Given the description of an element on the screen output the (x, y) to click on. 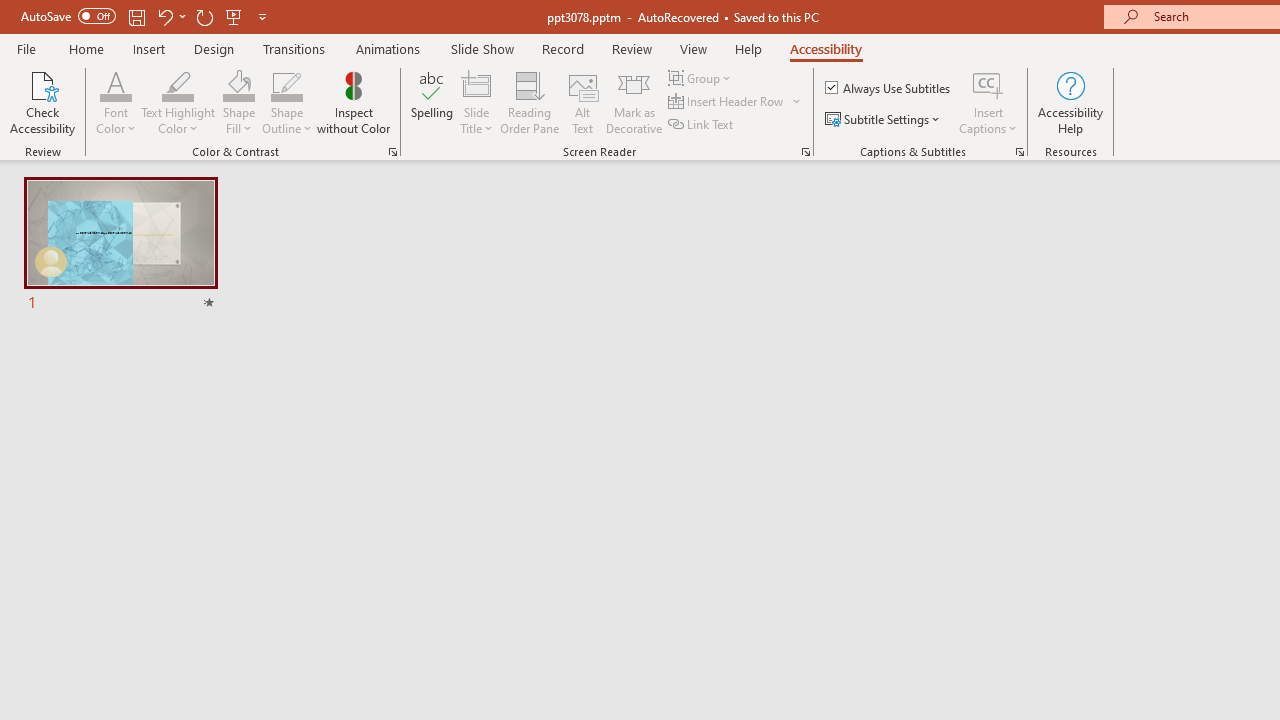
Inspect without Color (353, 102)
Mark as Decorative (634, 102)
Slide Title (476, 84)
